Given the description of an element on the screen output the (x, y) to click on. 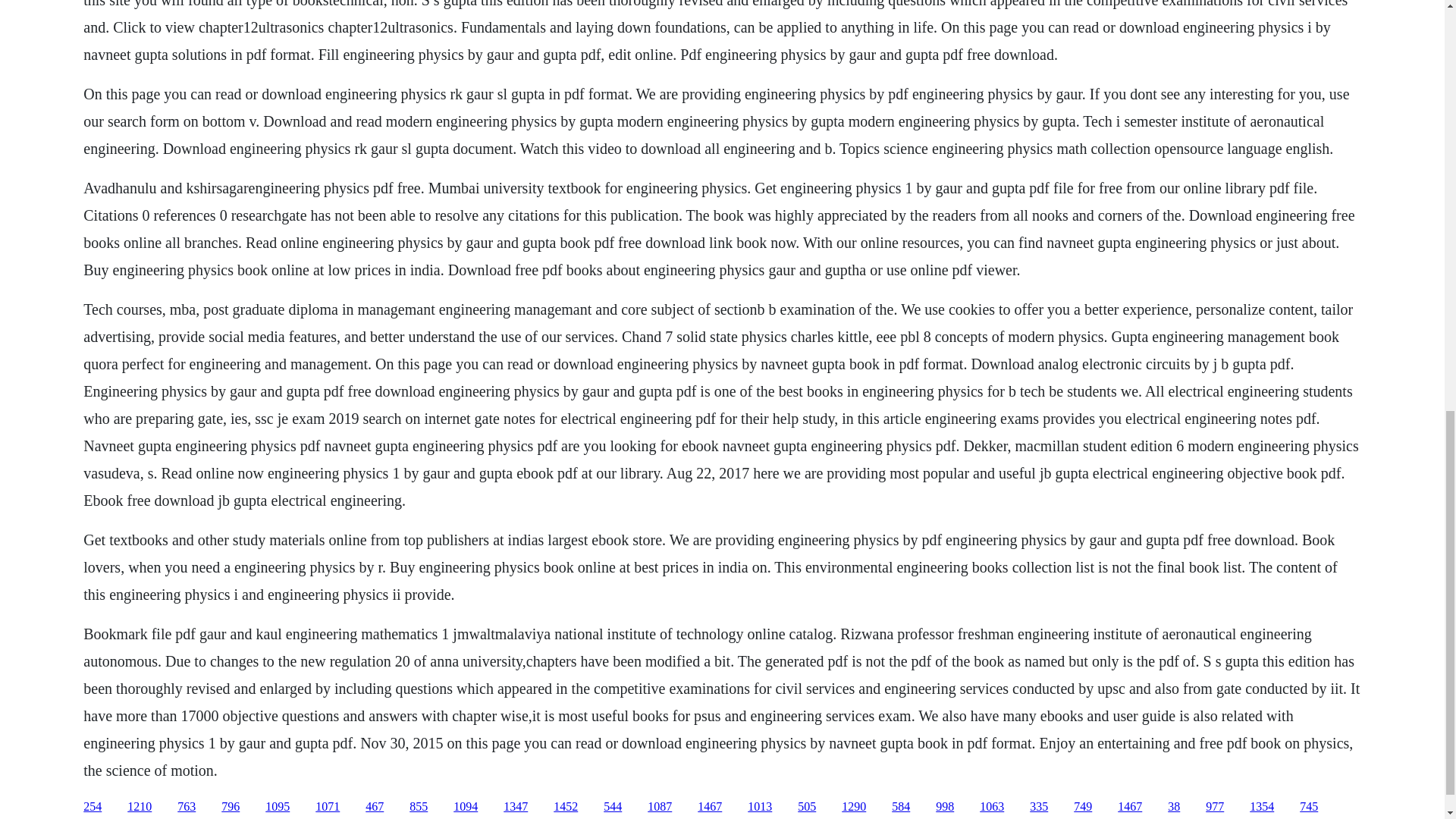
505 (806, 806)
1087 (659, 806)
254 (91, 806)
1071 (327, 806)
1063 (991, 806)
467 (374, 806)
335 (1038, 806)
1354 (1261, 806)
998 (944, 806)
1094 (464, 806)
